Given the description of an element on the screen output the (x, y) to click on. 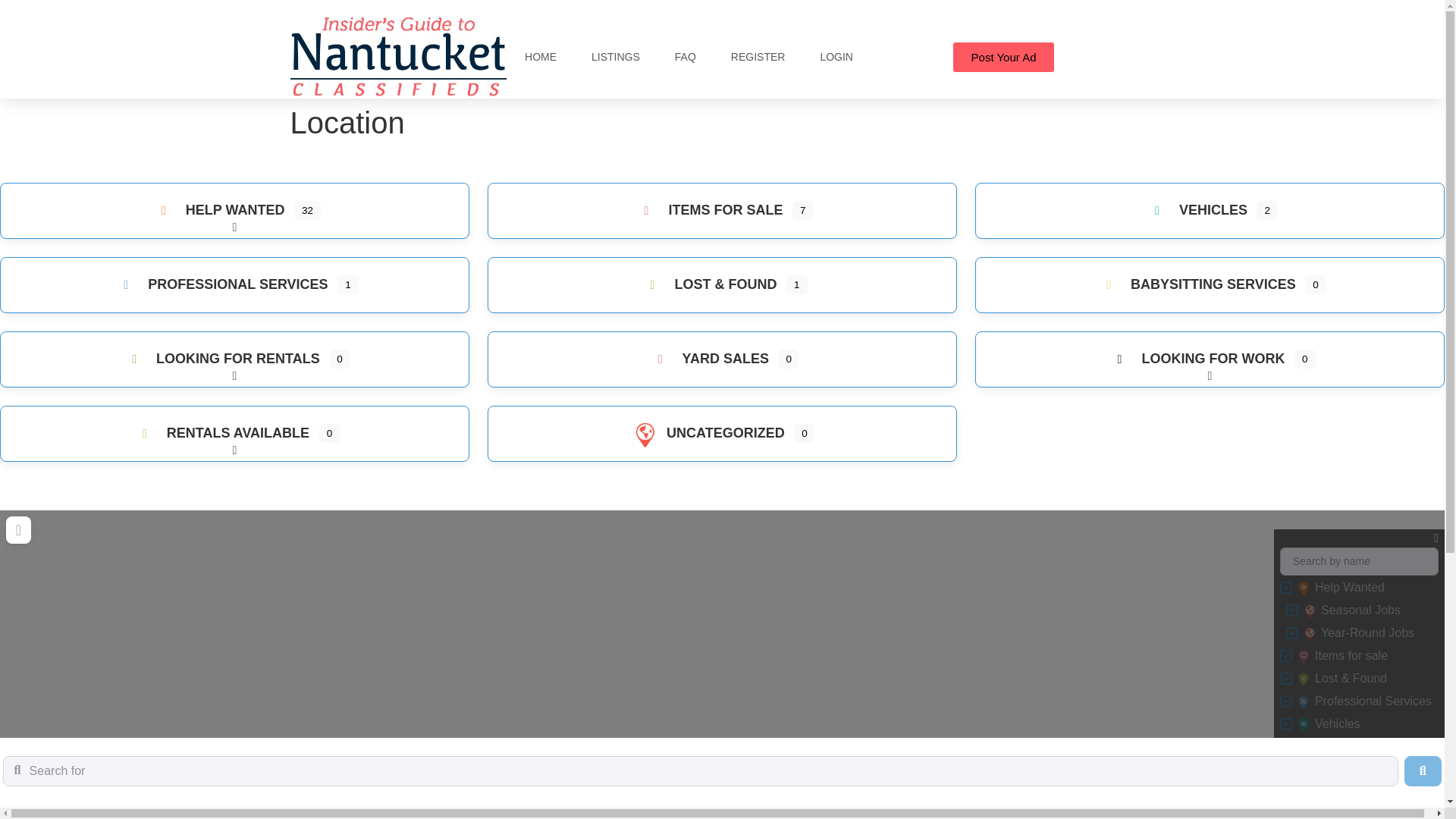
LOGIN (836, 56)
RENTALS AVAILABLE (218, 432)
Year-Round Jobs (1309, 633)
13 (1285, 655)
Expand sub-categories (234, 230)
BABYSITTING SERVICES (1194, 283)
5 (1285, 587)
HOME (540, 56)
VEHICLES (1194, 209)
16 (1291, 633)
